Given the description of an element on the screen output the (x, y) to click on. 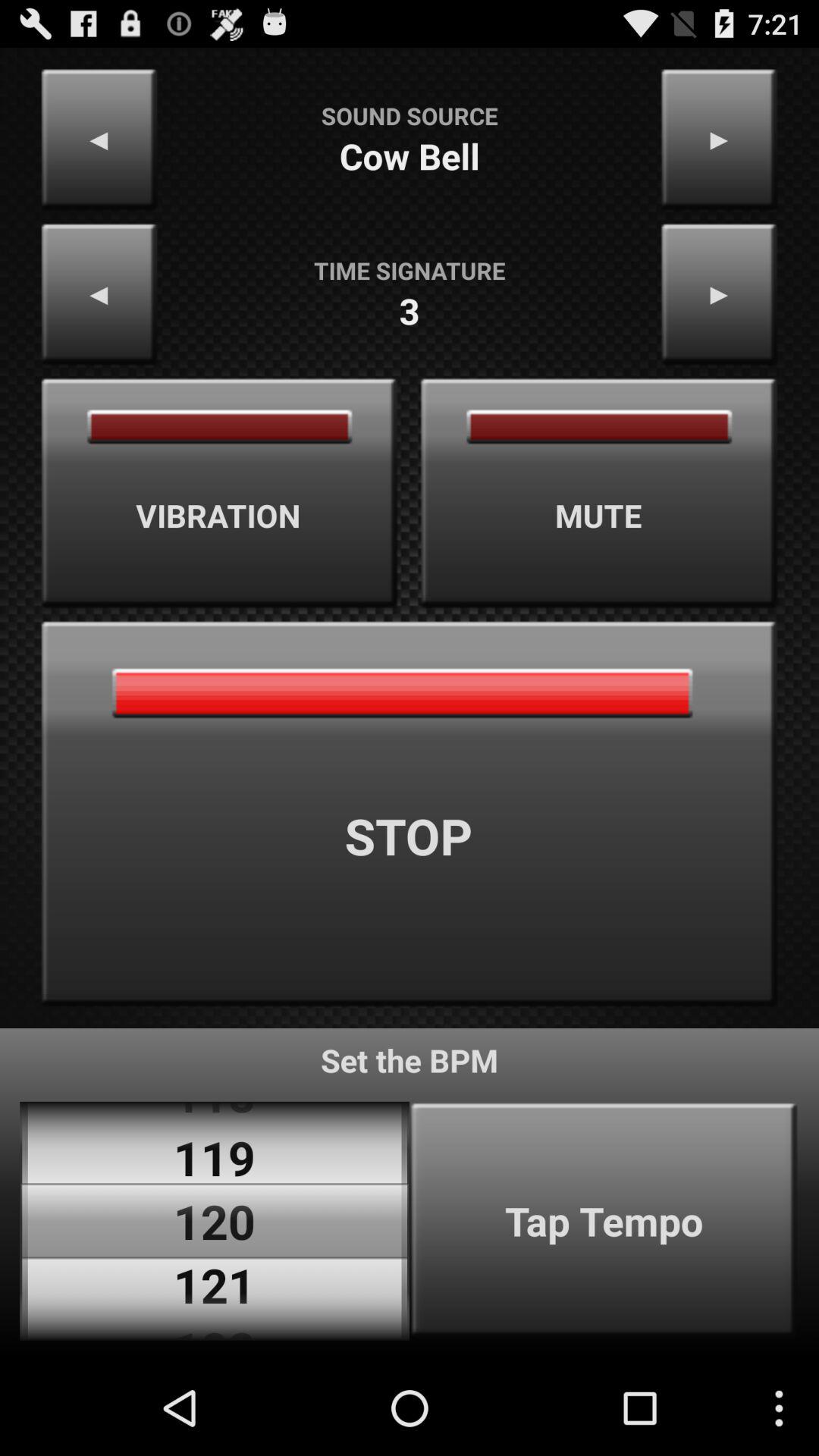
tap icon at the center (409, 813)
